Given the description of an element on the screen output the (x, y) to click on. 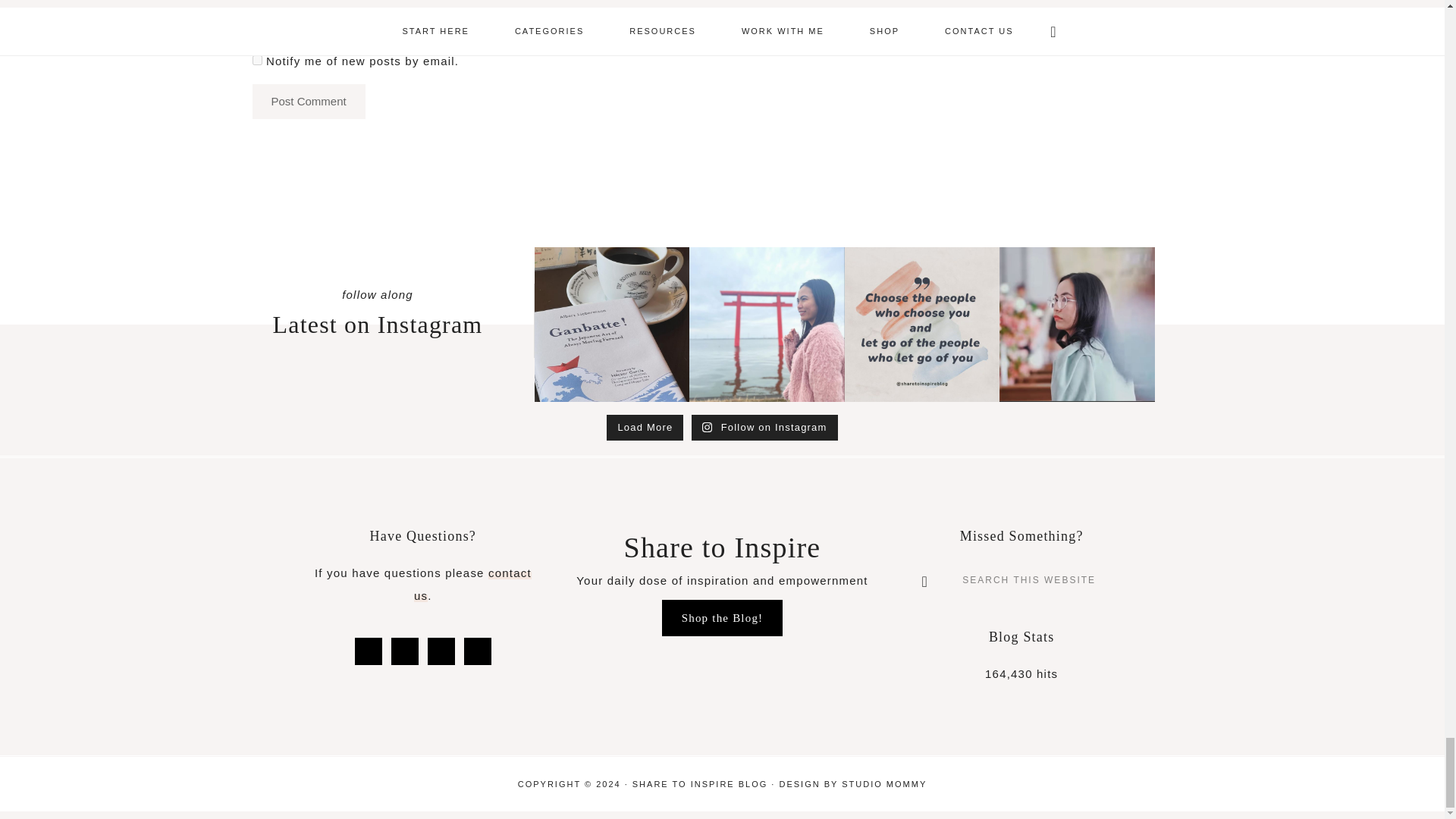
subscribe (256, 60)
subscribe (256, 26)
Post Comment (308, 101)
